Given the description of an element on the screen output the (x, y) to click on. 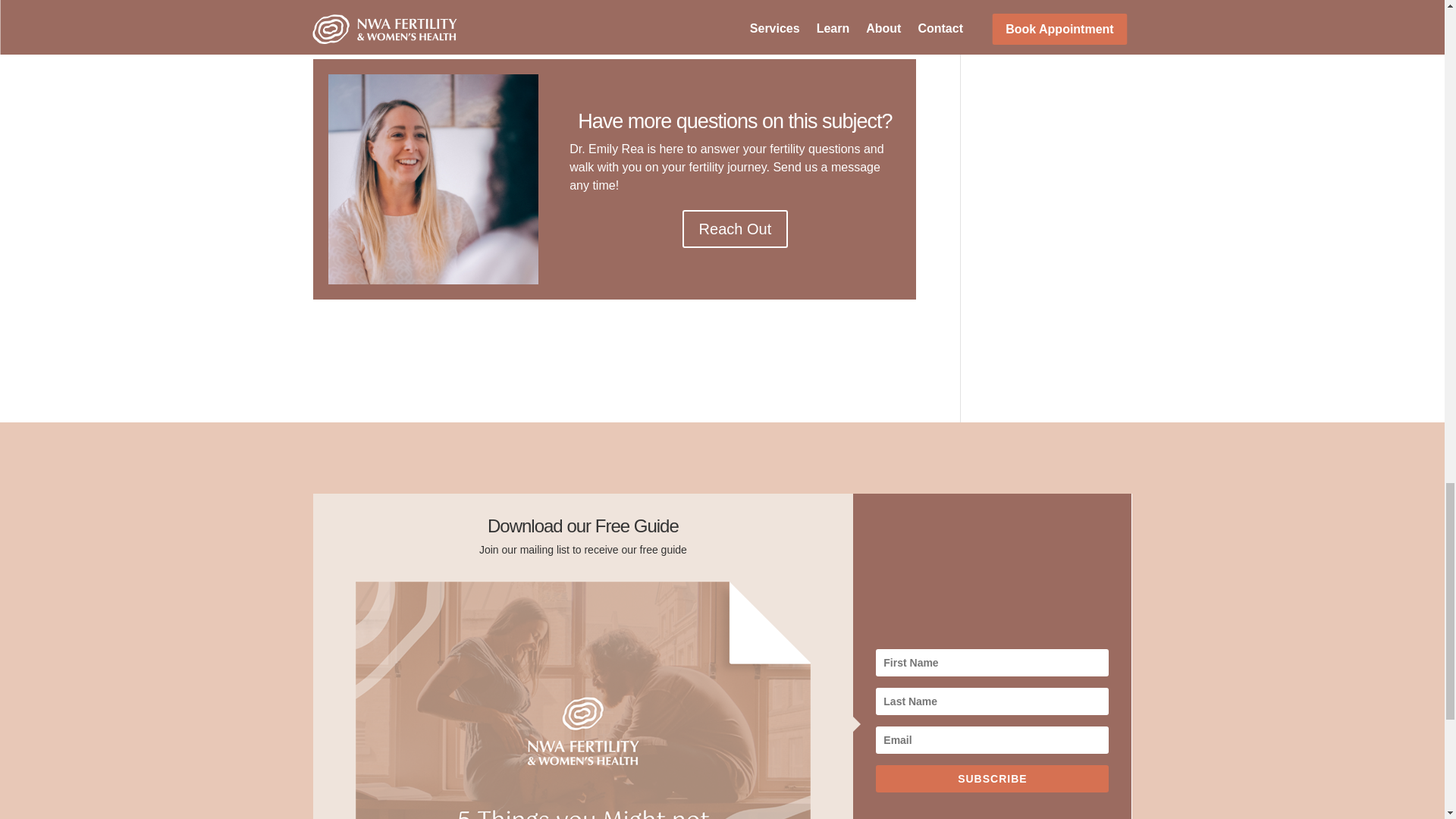
Emily New (432, 179)
SUBSCRIBE (992, 778)
Reach Out (735, 228)
